Given the description of an element on the screen output the (x, y) to click on. 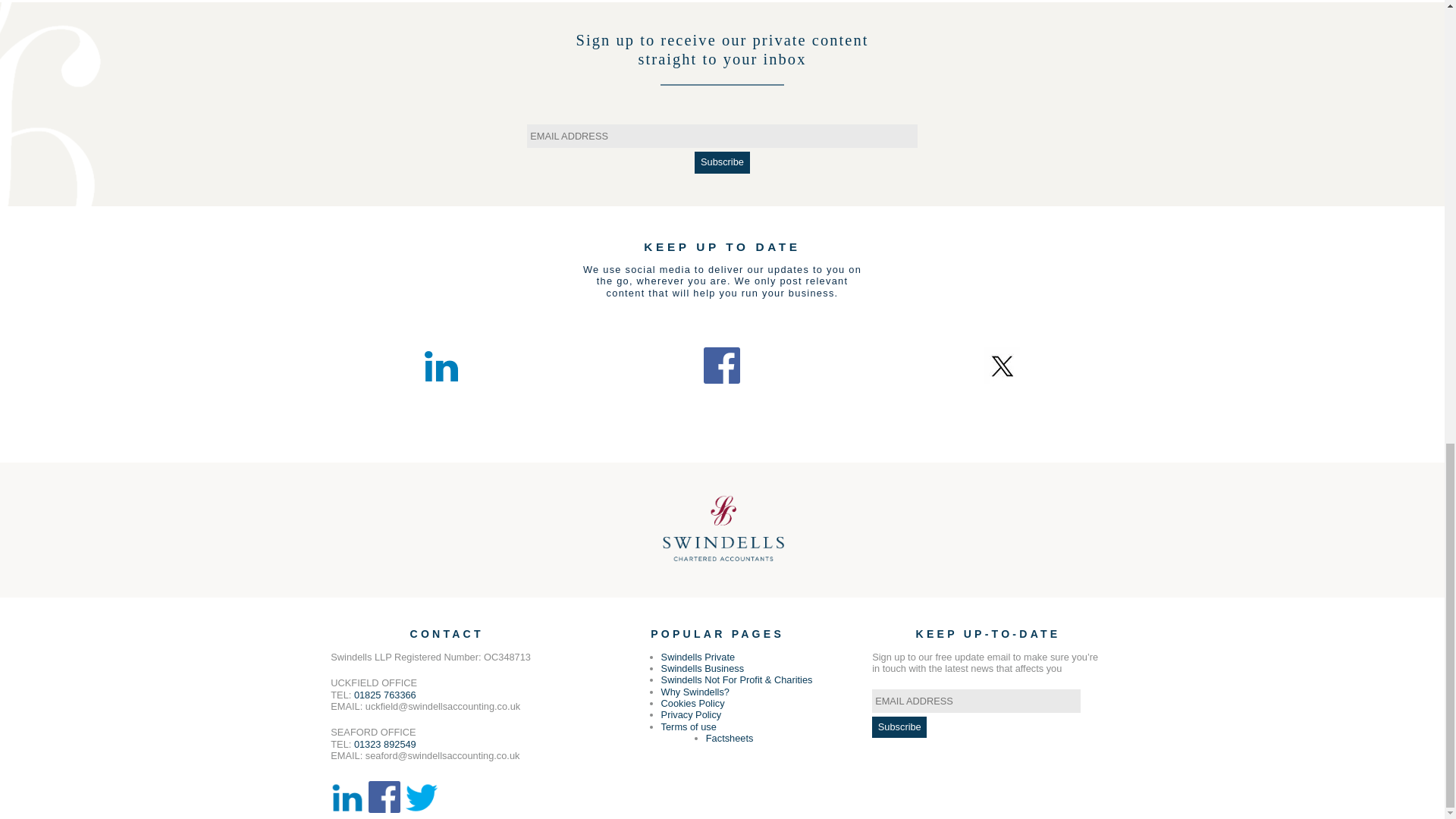
Subscribe (721, 161)
Subscribe (899, 726)
